Given the description of an element on the screen output the (x, y) to click on. 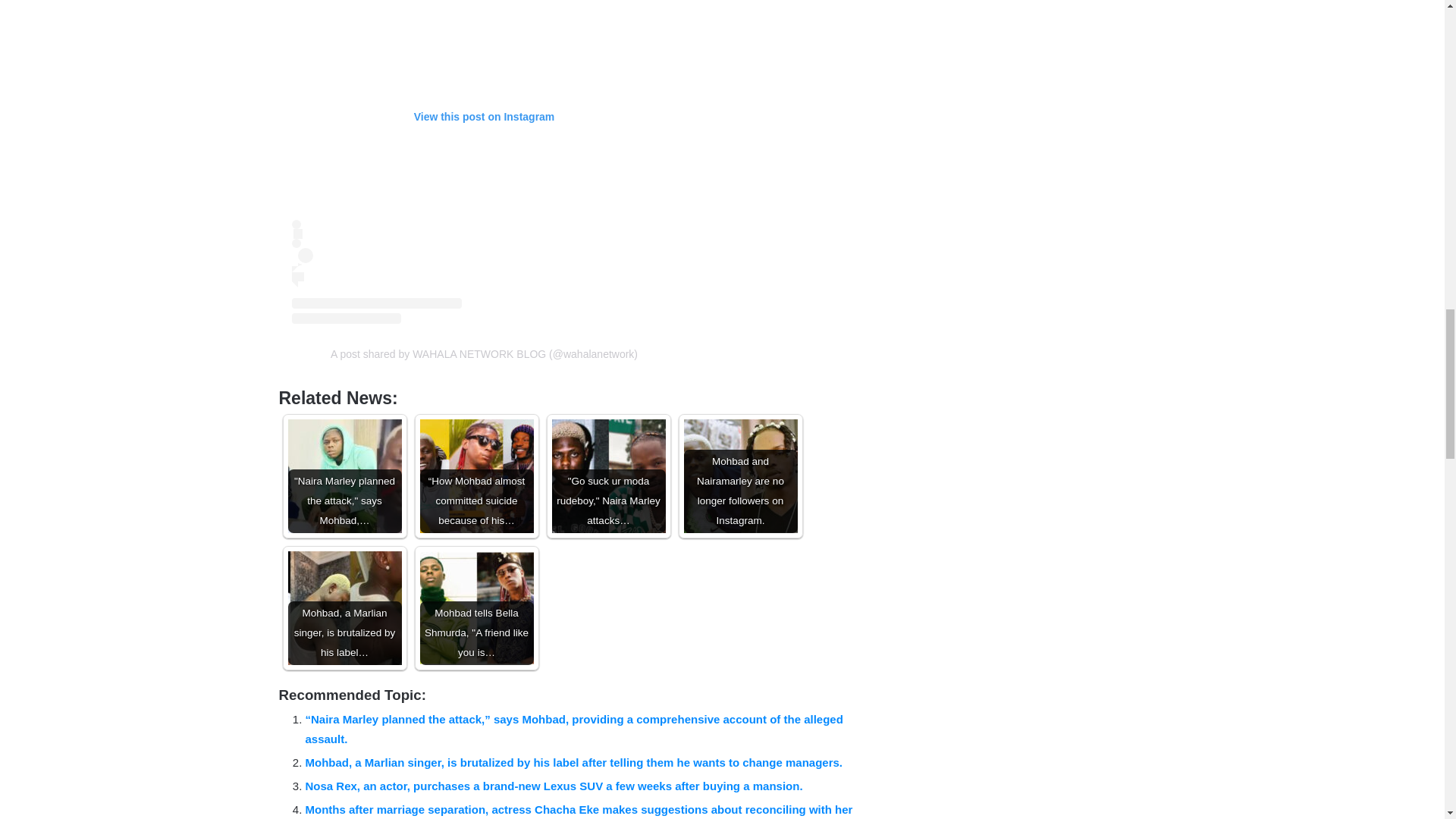
Mohbad and Nairamarley are no longer followers on Instagram. (740, 476)
View this post on Instagram (484, 162)
